Given the description of an element on the screen output the (x, y) to click on. 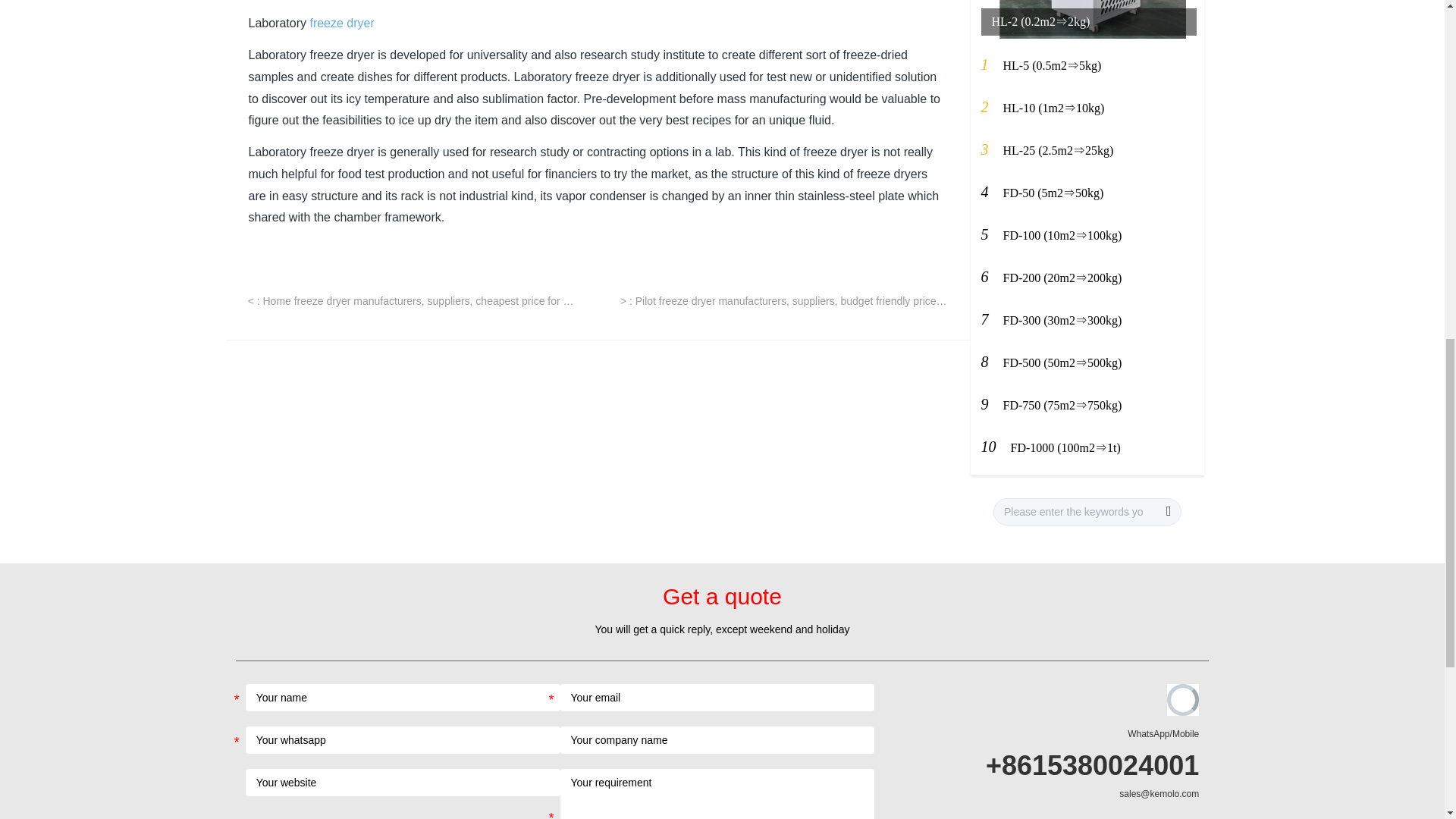
freeze dryer (341, 22)
KEMOLO freeze dryer (341, 22)
